Given the description of an element on the screen output the (x, y) to click on. 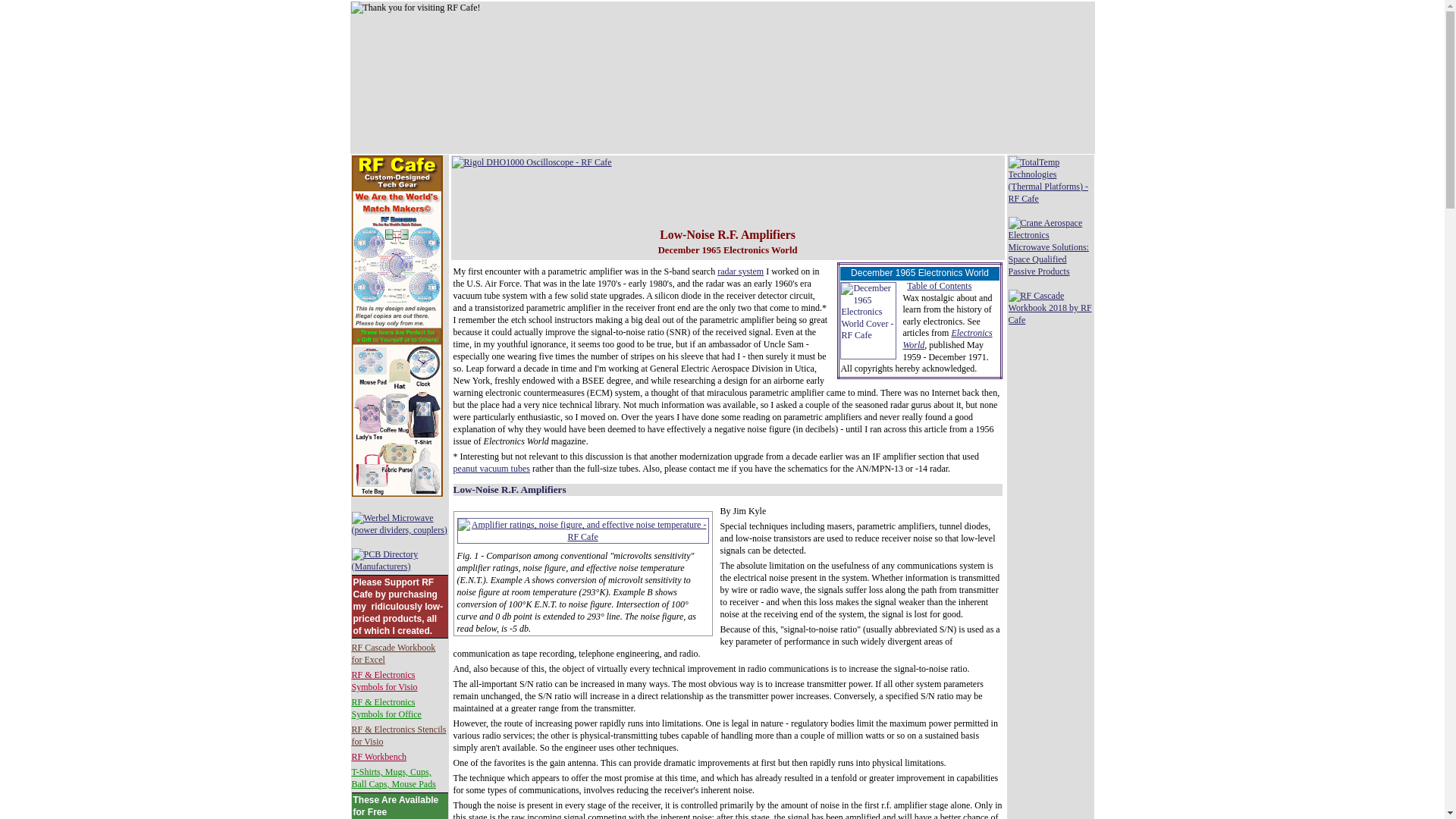
Table of Contents (939, 285)
RF Cascade Workbook for Excel (393, 653)
RF Workbench (379, 756)
T-Shirts, Mugs, Cups, Ball Caps, Mouse Pads (393, 777)
radar system (739, 271)
Electronics World (946, 338)
peanut vacuum tubes (490, 468)
